Given the description of an element on the screen output the (x, y) to click on. 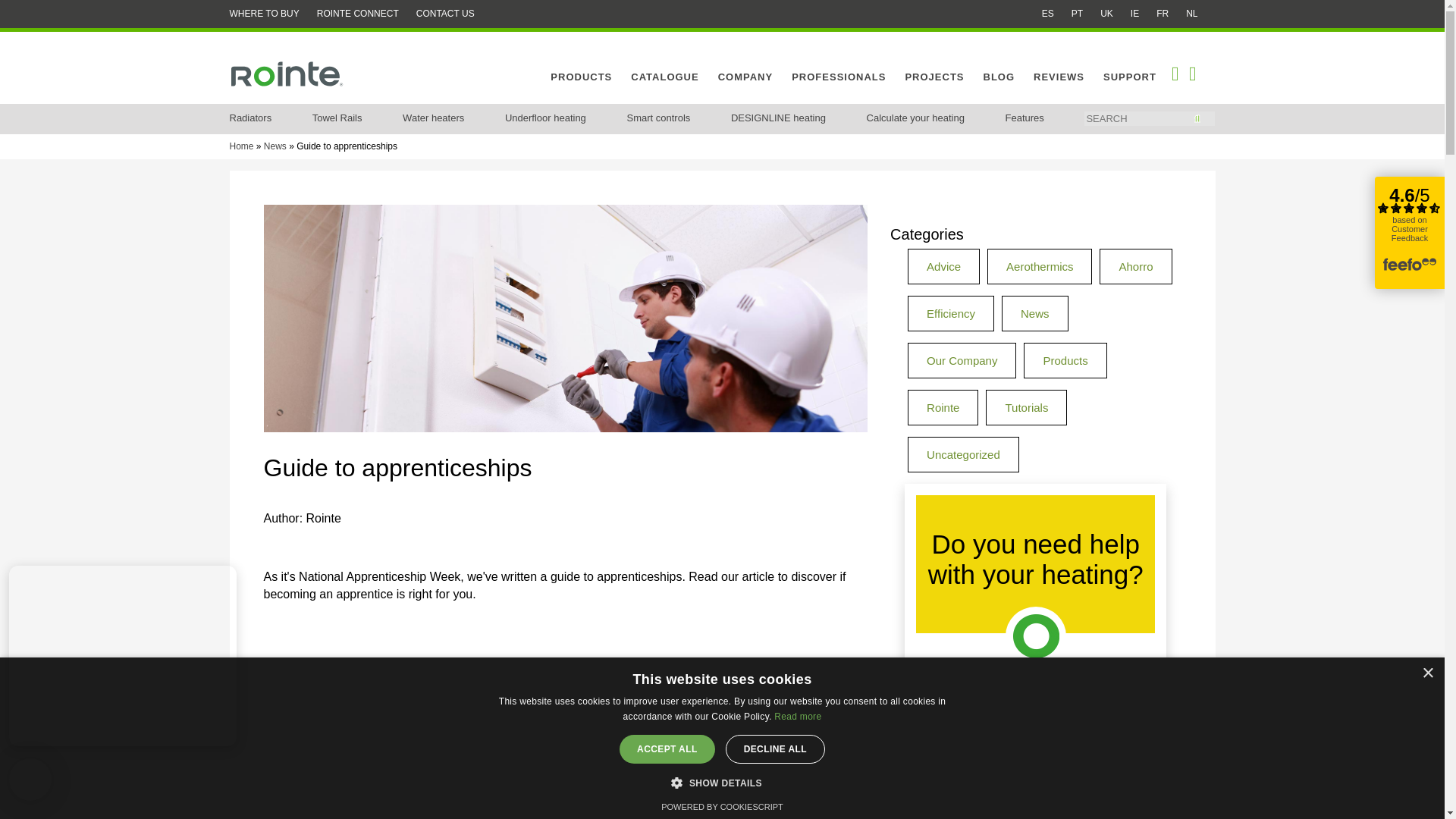
Smartsupp widget popup (121, 655)
Smartsupp widget button (29, 779)
NL (1191, 13)
ROINTE CONNECT (357, 13)
PRODUCTS (581, 76)
FR (1162, 13)
COMPANY (745, 76)
CATALOGUE (664, 76)
CONTACT US (445, 13)
PT (1077, 13)
WHERE TO BUY (263, 13)
ES (1048, 13)
Consent Management Platform (722, 806)
UK (1106, 13)
